Given the description of an element on the screen output the (x, y) to click on. 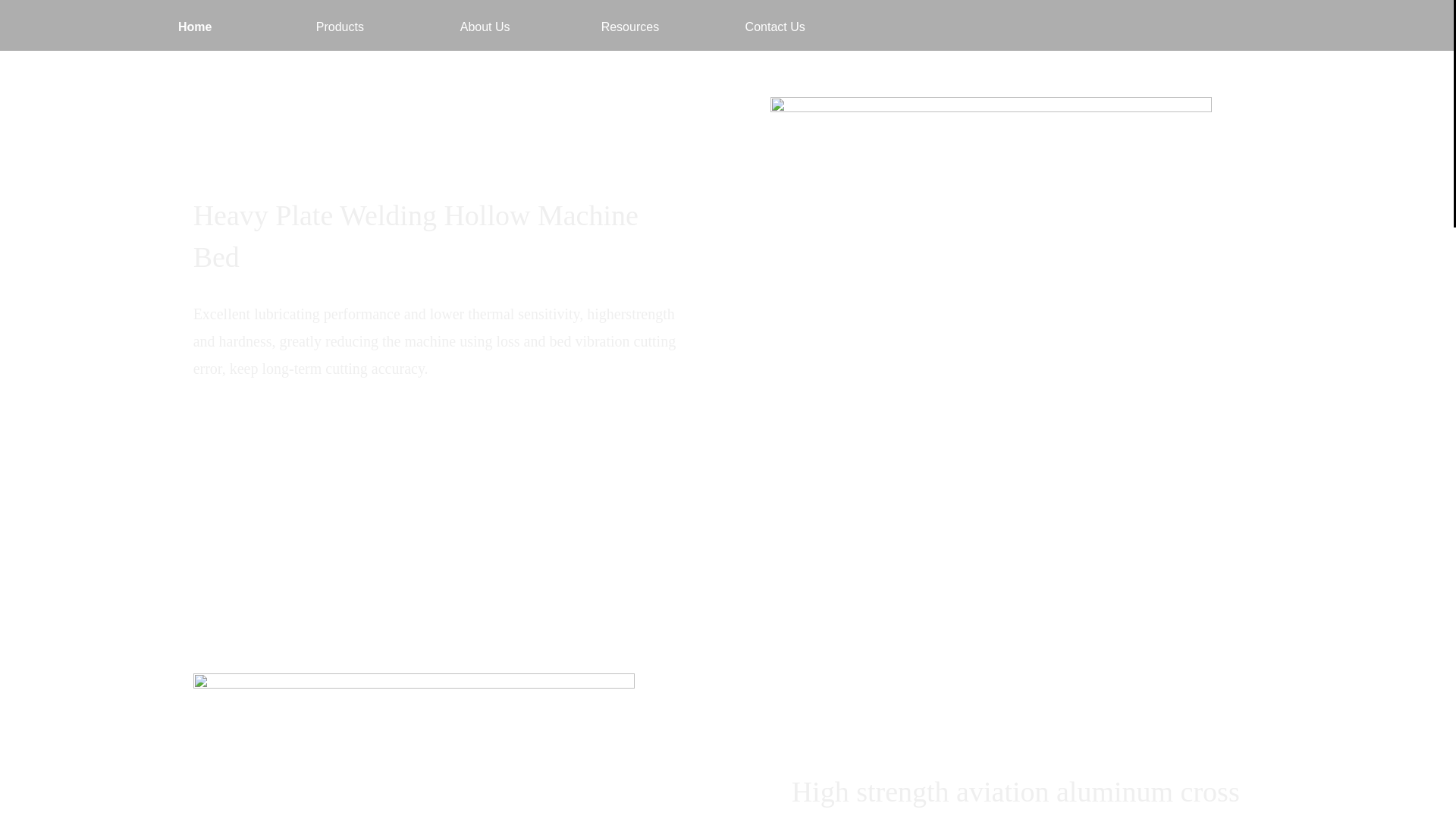
Resources (630, 28)
Contact Us (774, 28)
Products (339, 28)
About Us (484, 28)
Home (194, 28)
